Given the description of an element on the screen output the (x, y) to click on. 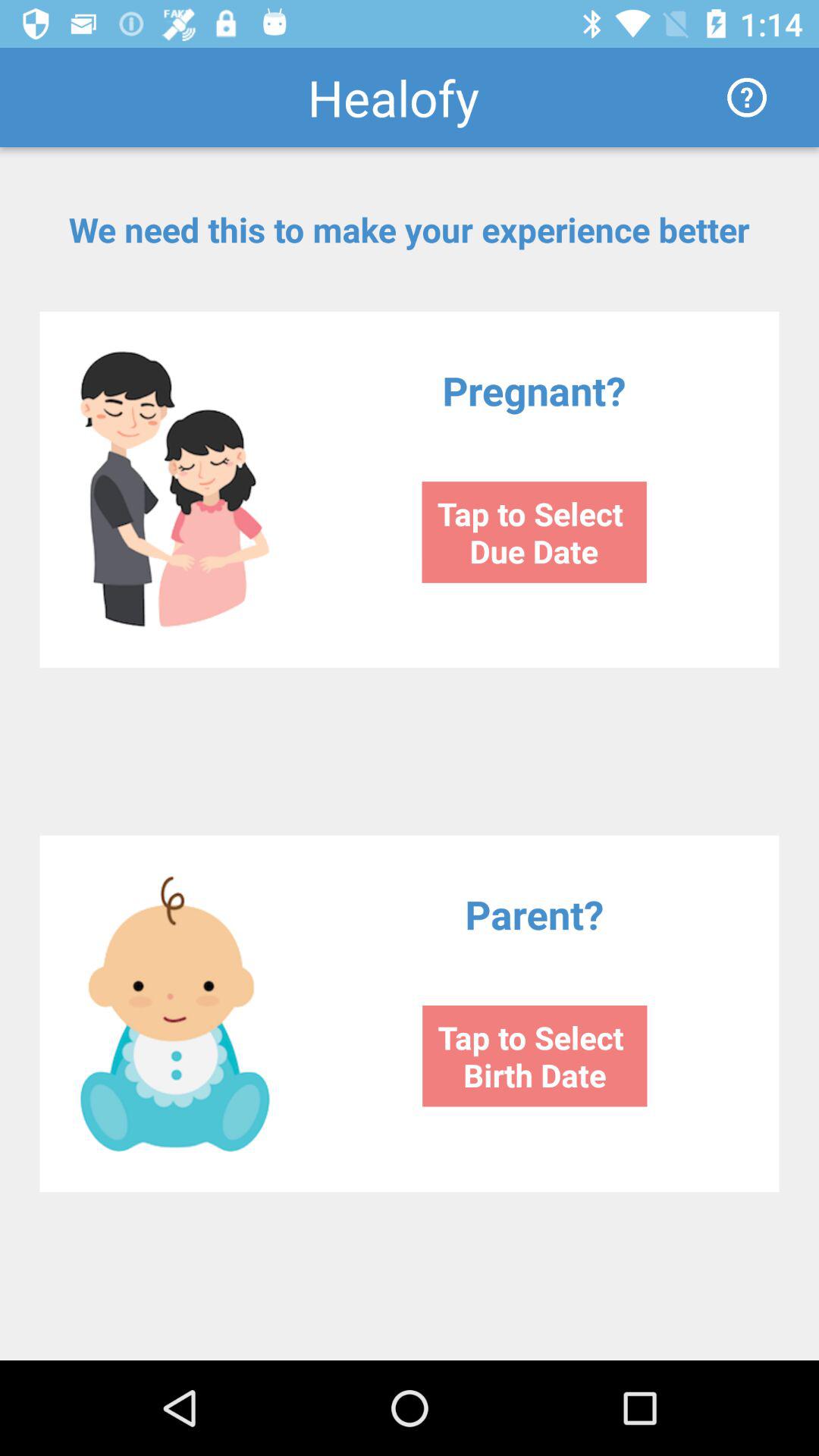
choose item to the right of the healofy icon (746, 97)
